Given the description of an element on the screen output the (x, y) to click on. 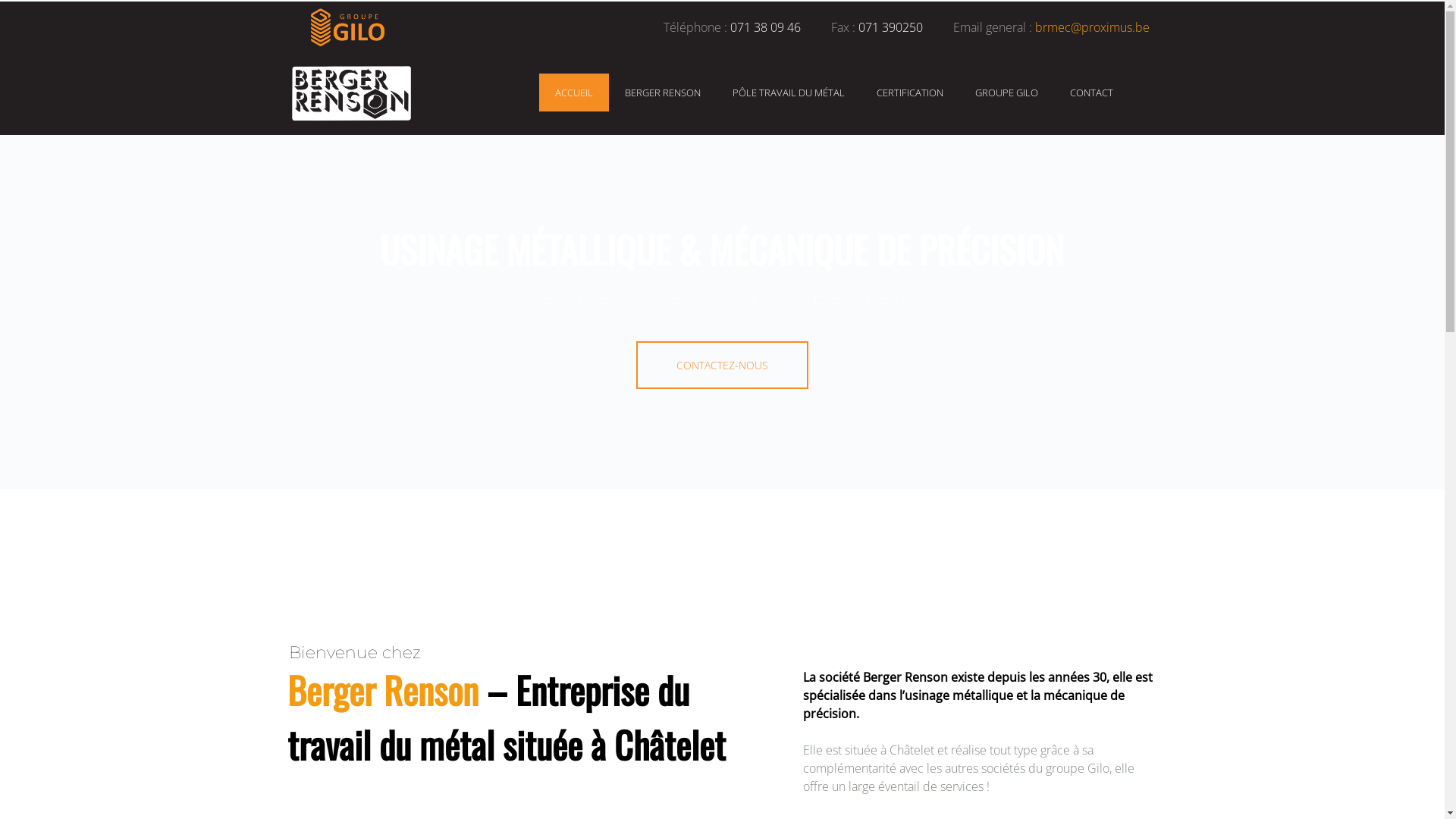
BERGER RENSON Element type: text (662, 92)
CERTIFICATION Element type: text (909, 92)
CONTACTEZ-NOUS Element type: text (721, 364)
ACCUEIL Element type: text (574, 92)
ACCUEIL Element type: text (574, 92)
GROUPE GILO Element type: text (1006, 92)
brmec@proximus.be Element type: text (1091, 26)
BERGER RENSON Element type: text (662, 92)
Image title here Element type: hover (350, 92)
CONTACT Element type: text (1090, 92)
GROUPE GILO Element type: text (1006, 92)
CONTACT Element type: text (1090, 92)
CONTACTEZ-NOUS Element type: text (721, 364)
CERTIFICATION Element type: text (909, 92)
Image title here Element type: hover (347, 27)
